Given the description of an element on the screen output the (x, y) to click on. 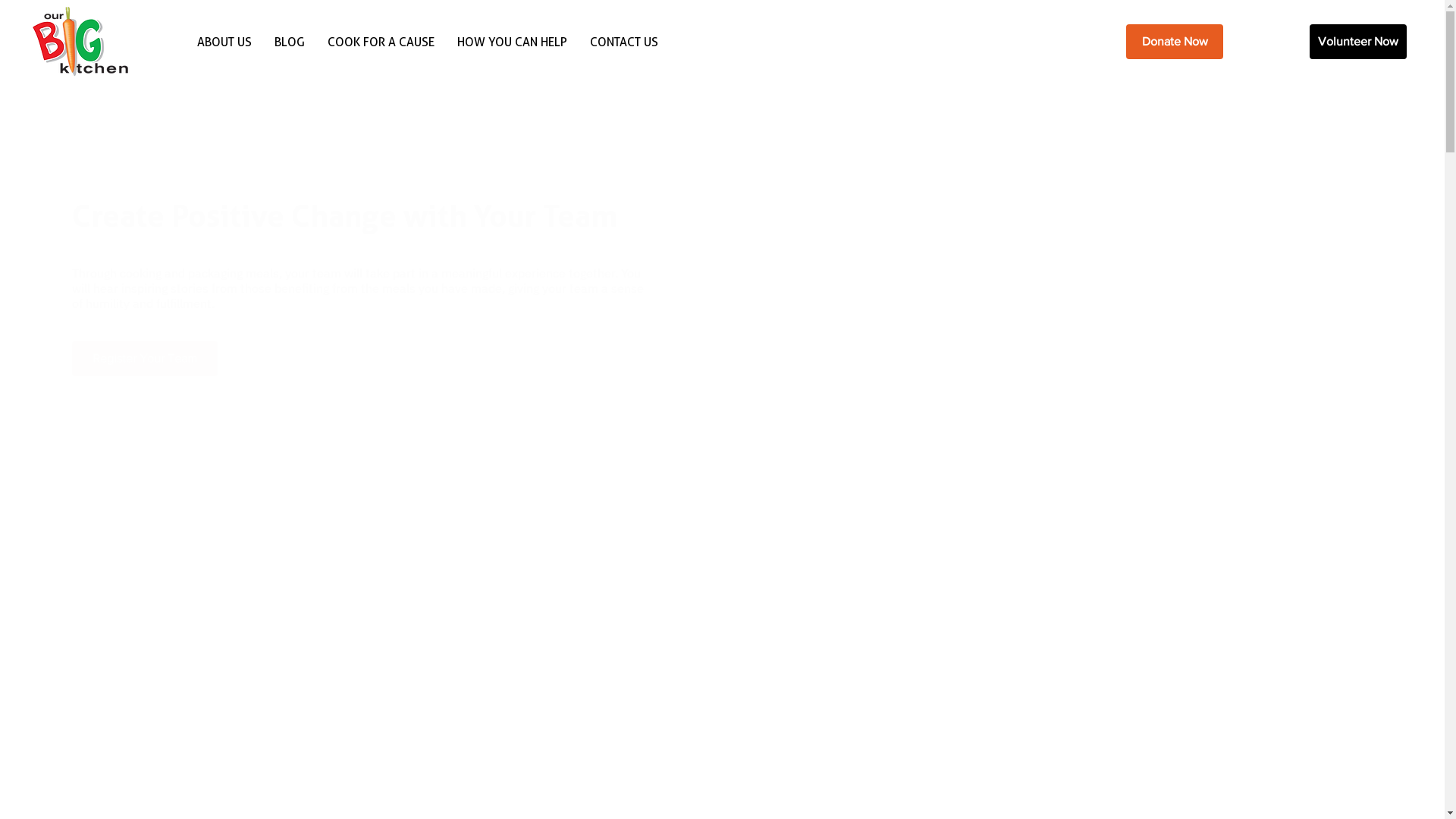
Volunteer Now Element type: text (1357, 41)
CONTACT US Element type: text (623, 41)
Donate Now Element type: text (1174, 41)
BLOG Element type: text (289, 41)
